Given the description of an element on the screen output the (x, y) to click on. 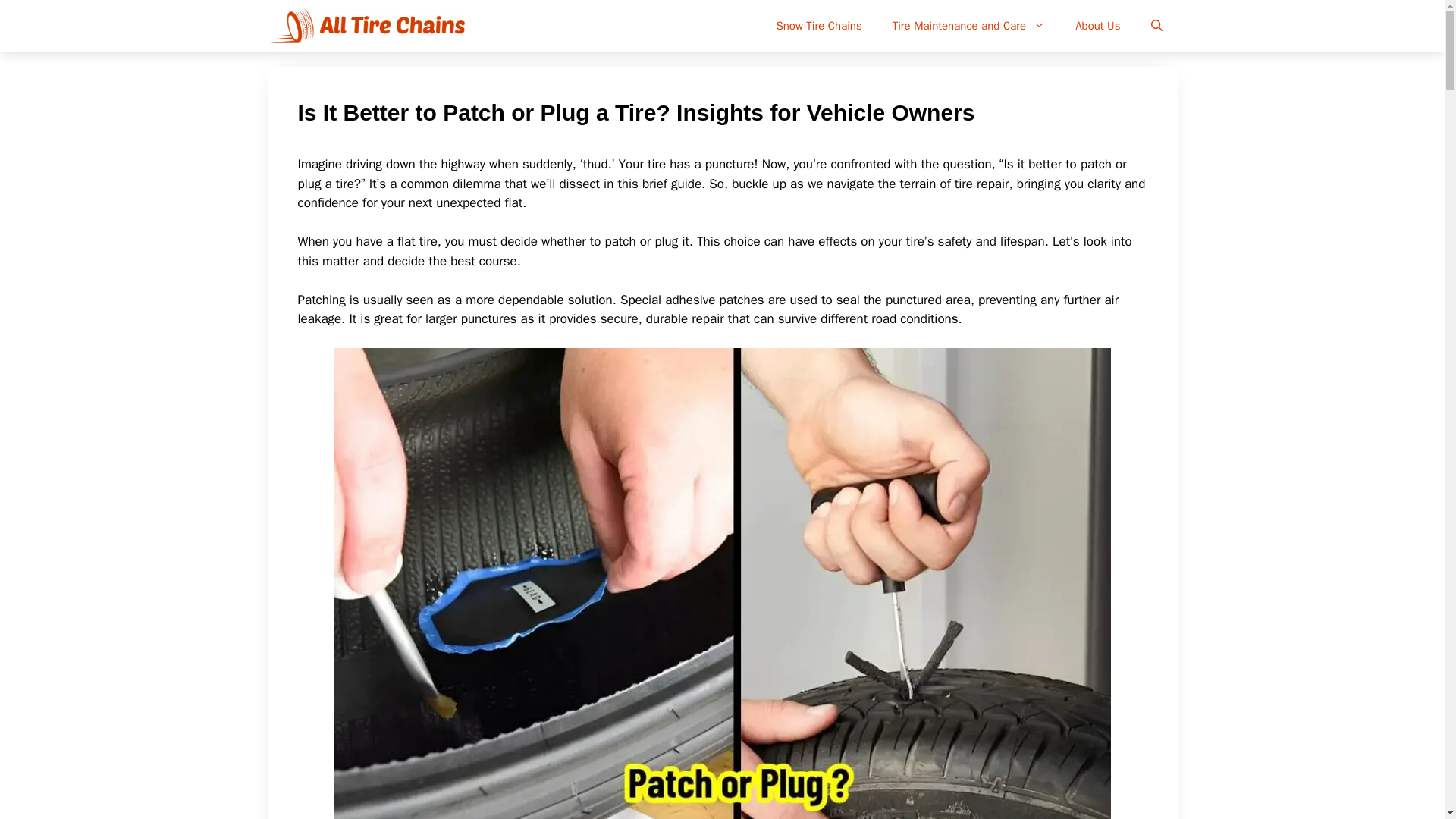
AllTireChains (370, 25)
About Us (1097, 25)
Snow Tire Chains (819, 25)
Tire Maintenance and Care (968, 25)
